Given the description of an element on the screen output the (x, y) to click on. 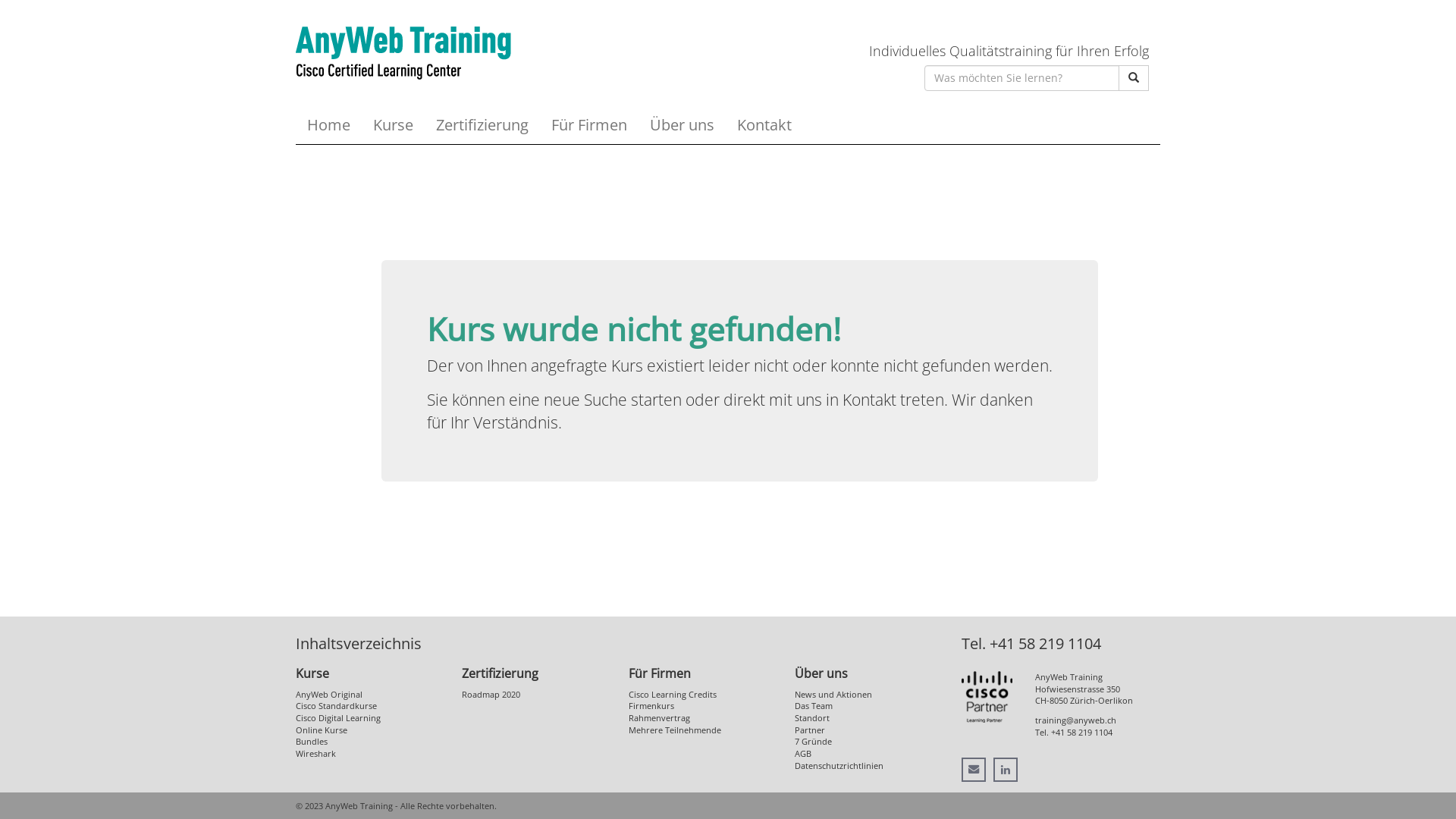
Standort Element type: text (811, 717)
+41 58 219 1104 Element type: text (1044, 643)
training@anyweb.ch Element type: text (1075, 719)
Roadmap 2020 Element type: text (490, 693)
Kurse Element type: text (392, 125)
Rahmenvertrag Element type: text (659, 717)
+41 58 219 1104 Element type: text (1081, 731)
Cisco Digital Learning Element type: text (337, 717)
Mehrere Teilnehmende Element type: text (674, 729)
Teilen via LinkedIn Element type: hover (1005, 769)
Das Team Element type: text (813, 705)
Kurse Element type: text (312, 673)
Online Kurse Element type: text (321, 729)
Cisco Learning Credits Element type: text (672, 693)
Wireshark Element type: text (315, 753)
Bundles Element type: text (311, 740)
Kontakt Element type: text (764, 125)
Datenschutzrichtlinien Element type: text (838, 765)
Partner Element type: text (809, 729)
Cisco Standardkurse Element type: text (335, 705)
Teilen via Email Element type: hover (973, 769)
News und Aktionen Element type: text (833, 693)
Zertifizierung Element type: text (481, 125)
Firmenkurs Element type: text (651, 705)
AnyWeb Original Element type: text (328, 693)
AGB Element type: text (802, 753)
Home Element type: text (328, 125)
Zertifizierung Element type: text (499, 673)
